Given the description of an element on the screen output the (x, y) to click on. 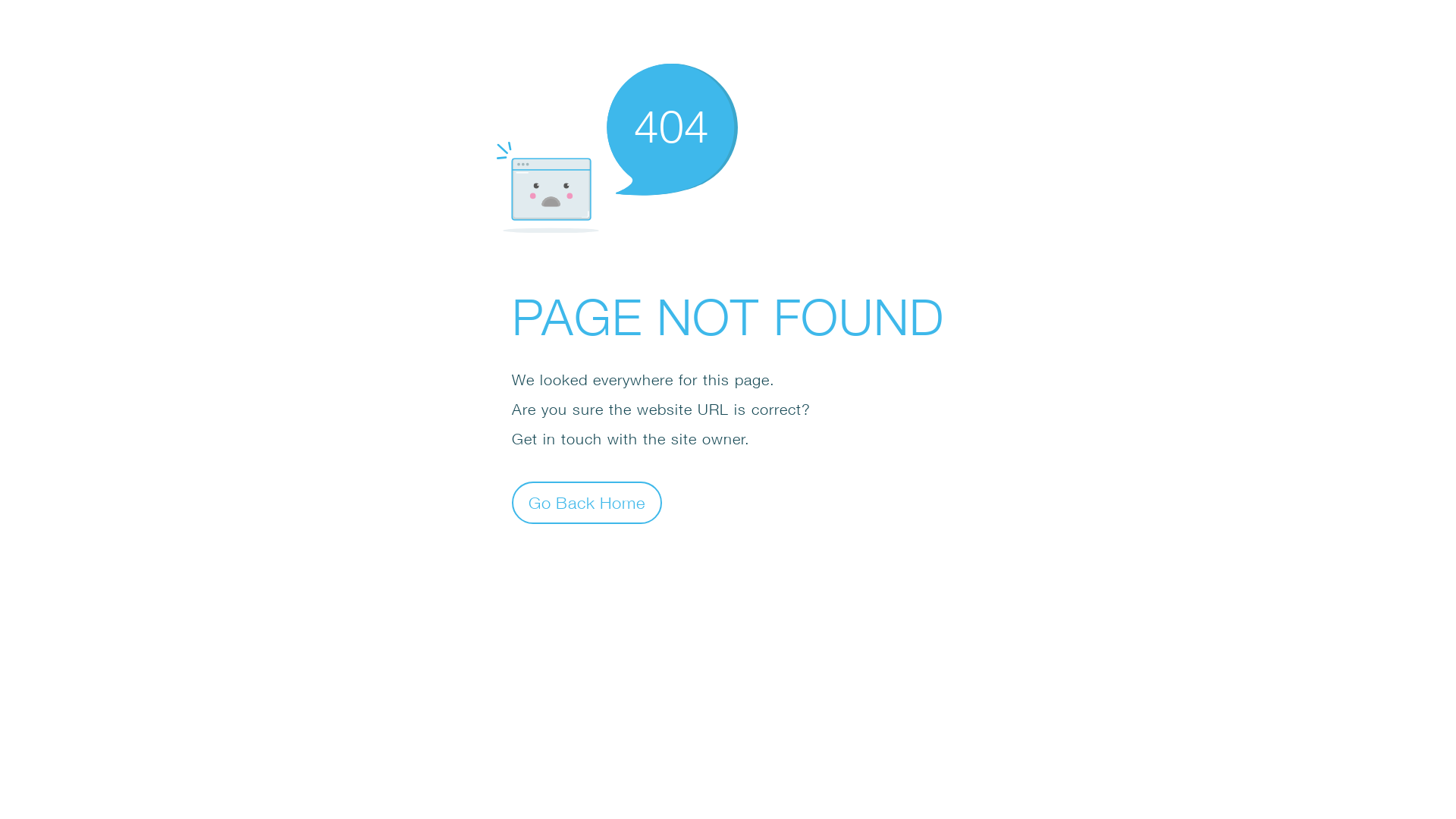
Go Back Home Element type: text (586, 502)
